Given the description of an element on the screen output the (x, y) to click on. 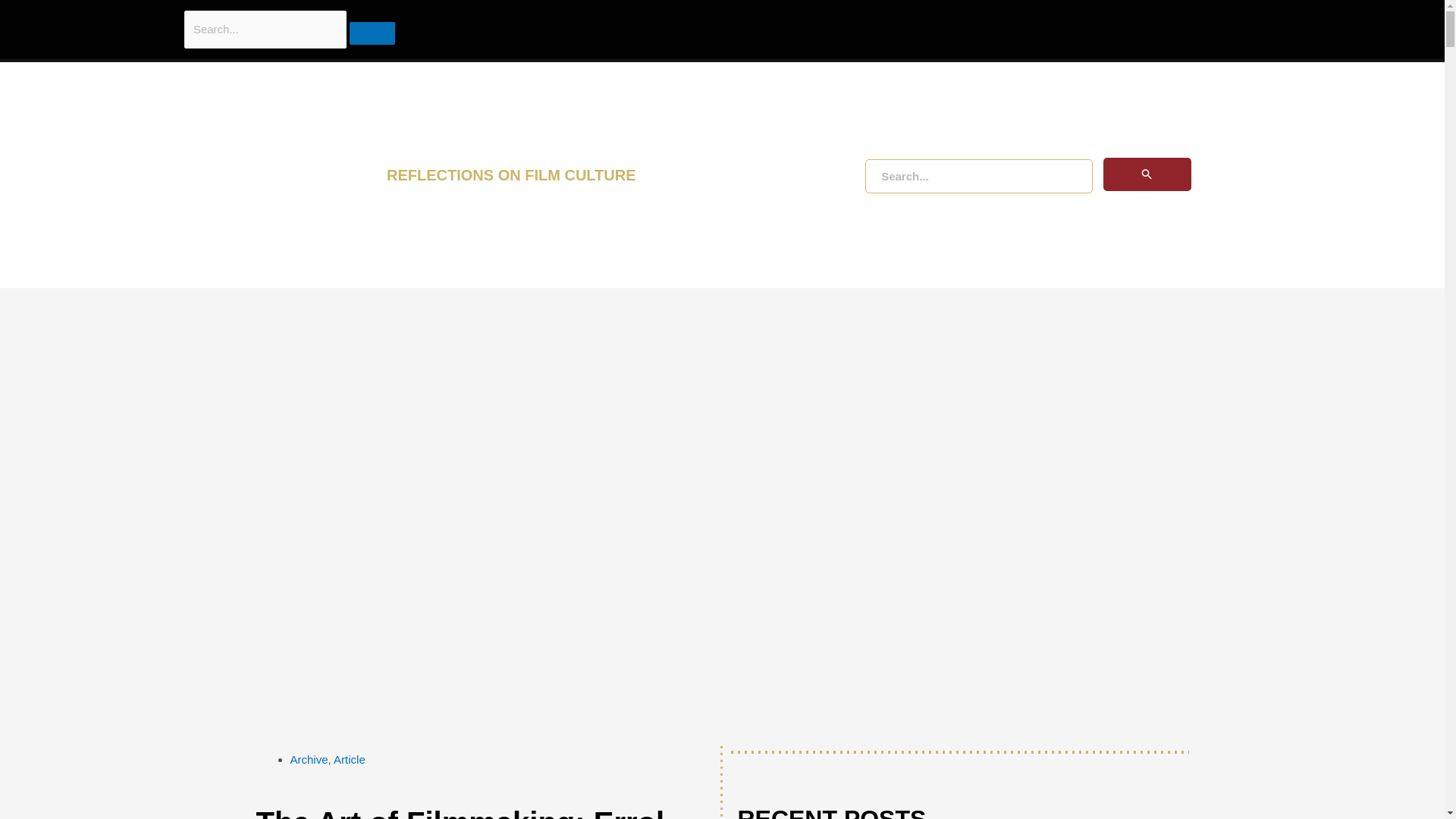
Archive (308, 758)
Search (371, 33)
Article (349, 758)
Search (113, 17)
